Given the description of an element on the screen output the (x, y) to click on. 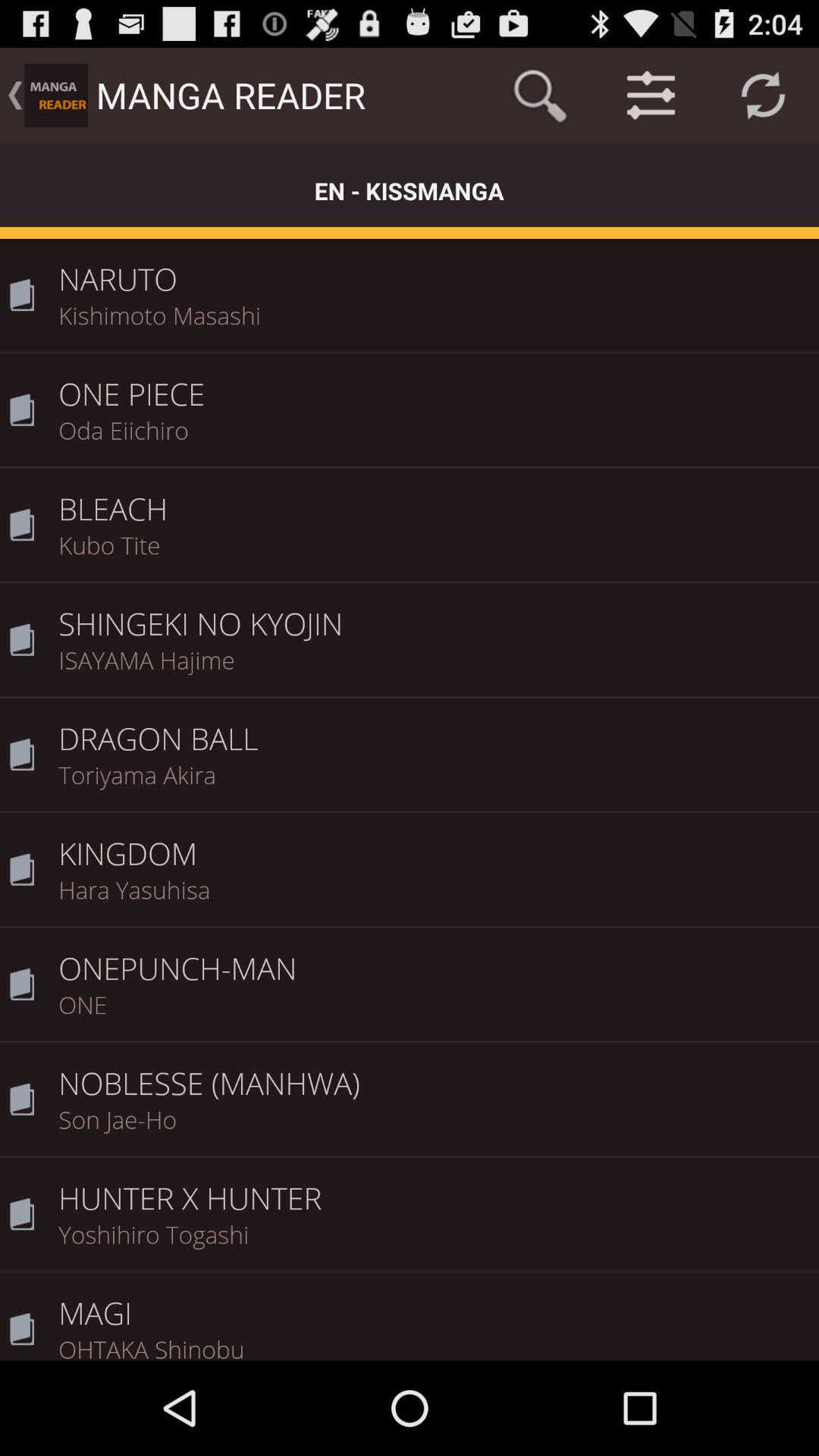
launch the item below the toriyama akira (433, 843)
